Given the description of an element on the screen output the (x, y) to click on. 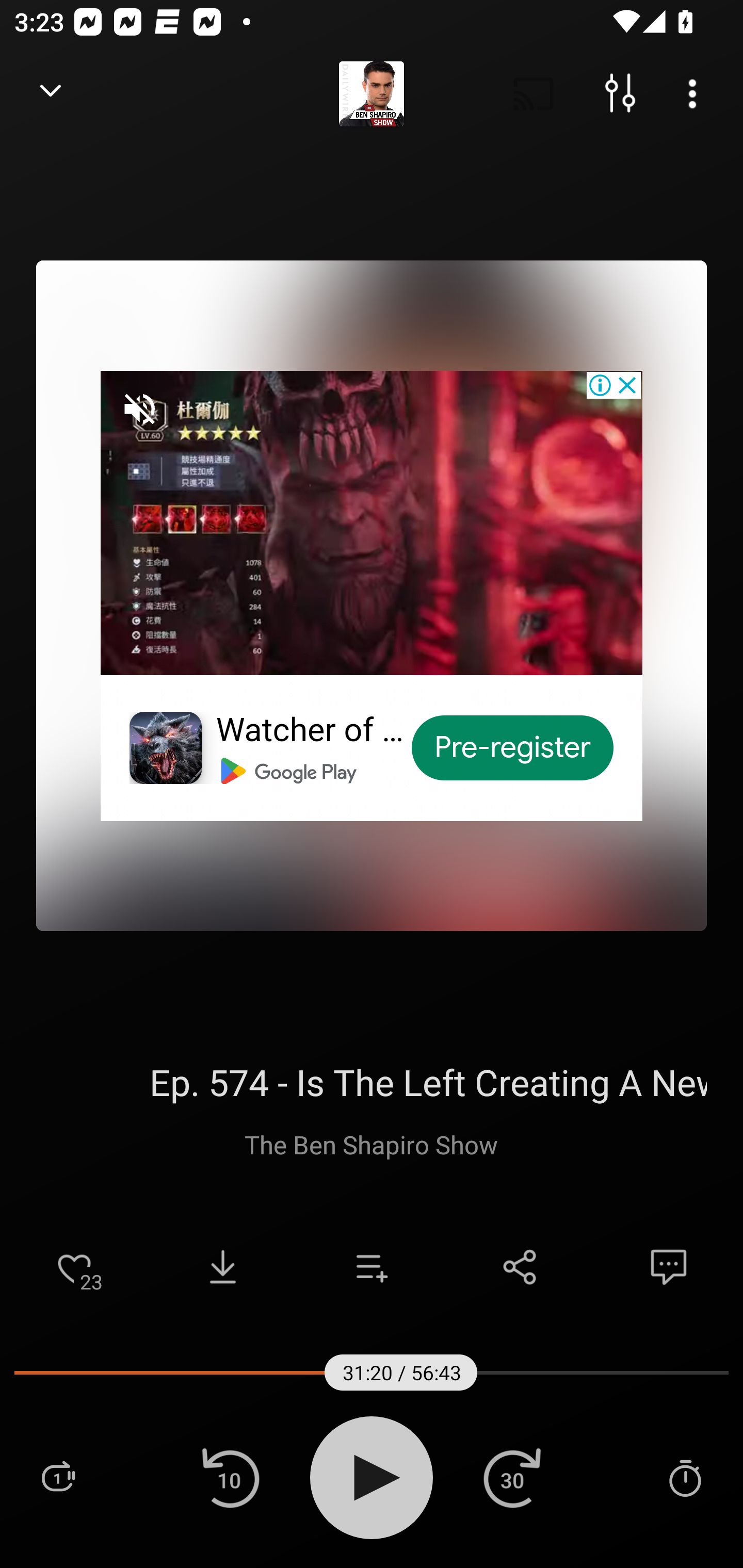
Cast. Disconnected (533, 93)
 Back (50, 94)
Watcher of … Pre-register Pre-register (371, 595)
JUMP：群… Pre-register Pre-register (371, 595)
Pre-register (512, 747)
Pre-register (512, 747)
Ep. 574 - Is The Left Creating A New Agenda? (371, 1081)
The Ben Shapiro Show (371, 1144)
Comments (668, 1266)
Add to Favorites (73, 1266)
Add to playlist (371, 1266)
Share (519, 1266)
 Playlist (57, 1477)
Sleep Timer  (684, 1477)
